Given the description of an element on the screen output the (x, y) to click on. 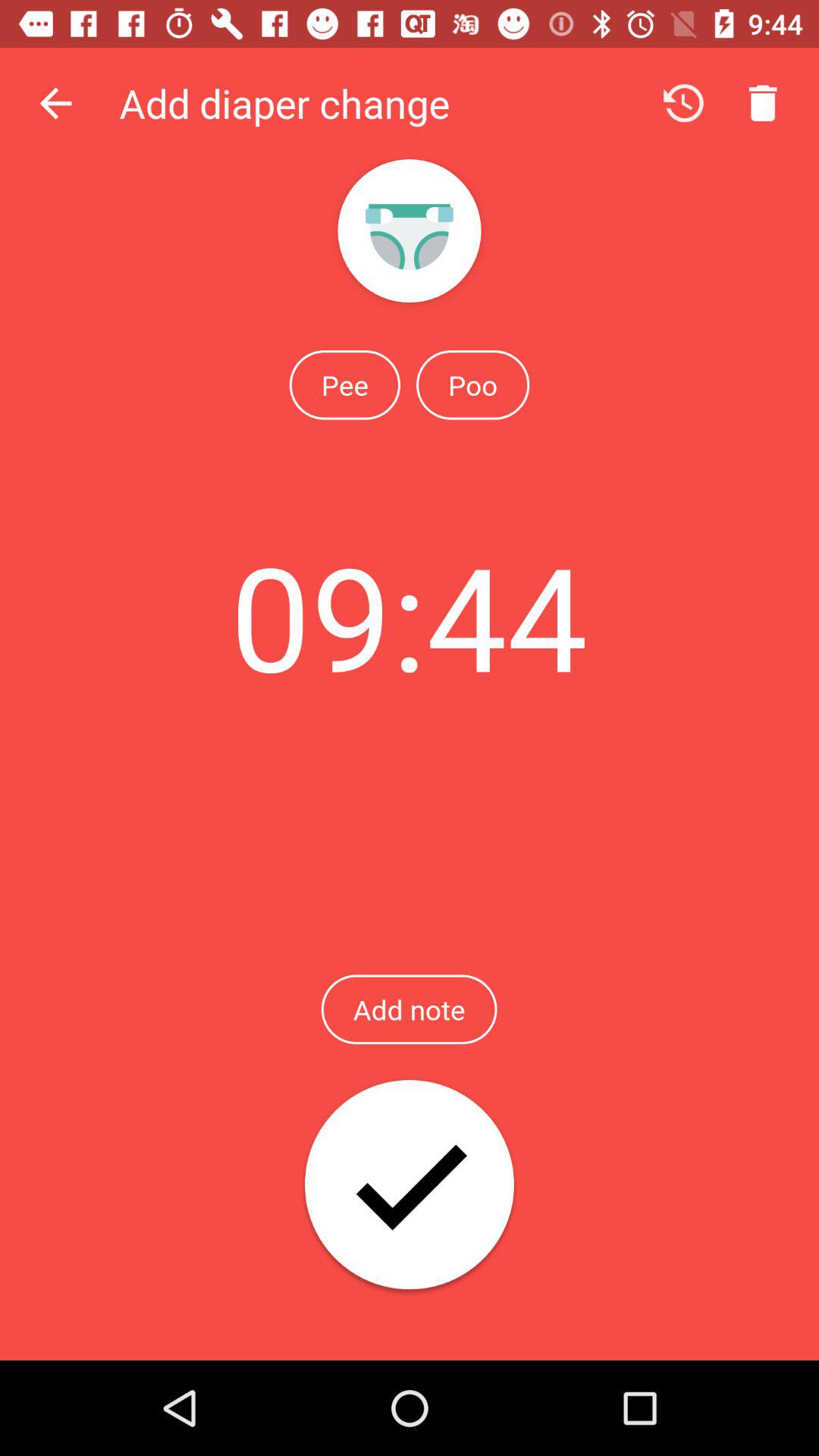
click poo (472, 384)
